Given the description of an element on the screen output the (x, y) to click on. 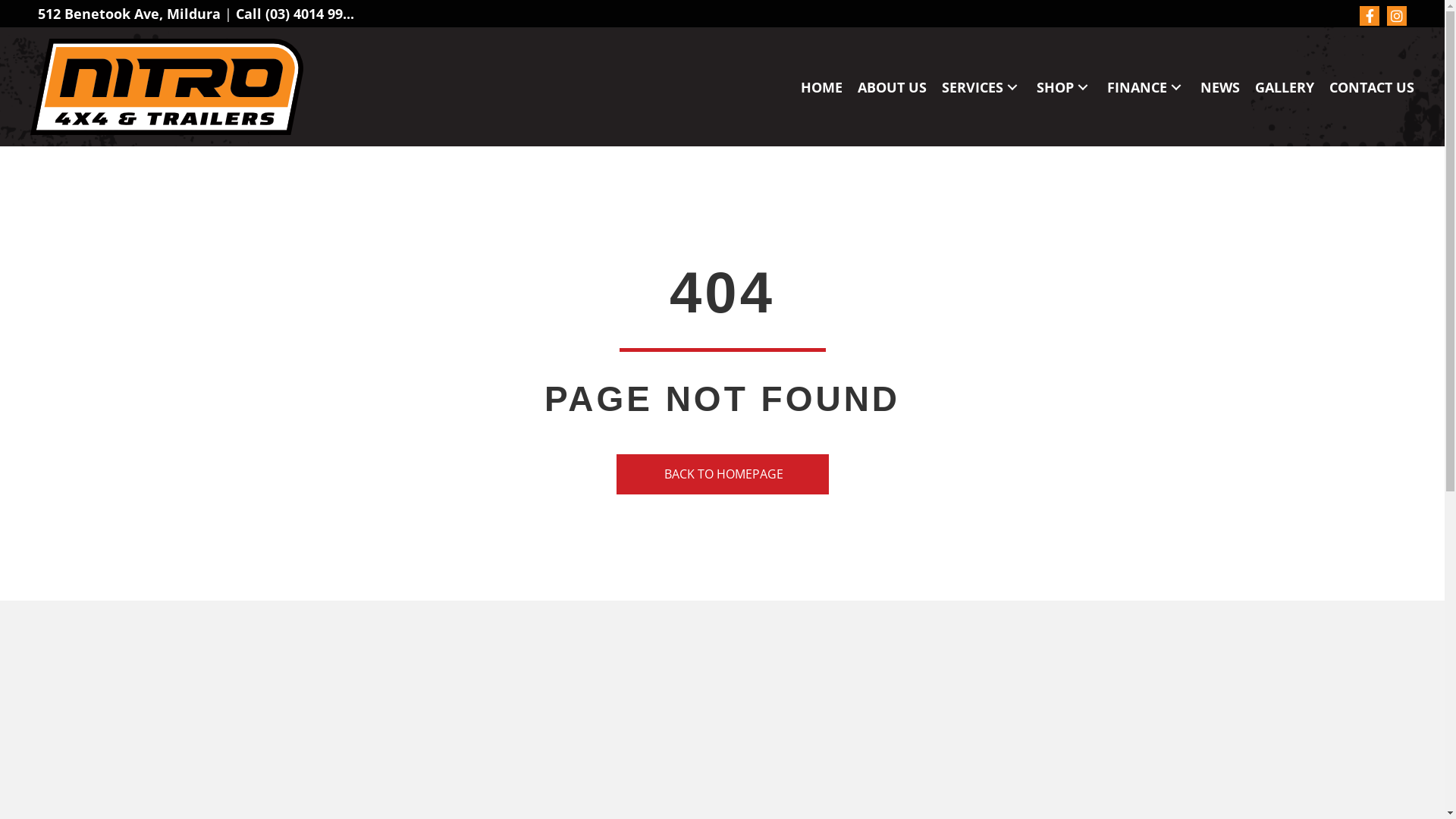
FINANCE Element type: text (1145, 87)
(03) 4014 99... Element type: text (309, 13)
SHOP Element type: text (1064, 87)
HOME Element type: text (821, 87)
Facebook Element type: hover (1369, 15)
CONTACT US Element type: text (1371, 87)
GALLERY Element type: text (1284, 87)
Instagram Element type: hover (1396, 15)
NEWS Element type: text (1219, 87)
ABOUT US Element type: text (892, 87)
SERVICES Element type: text (981, 87)
logo-nitro Element type: hover (166, 86)
BACK TO HOMEPAGE Element type: text (721, 474)
512 Benetook Ave, Mildura Element type: text (128, 13)
